Given the description of an element on the screen output the (x, y) to click on. 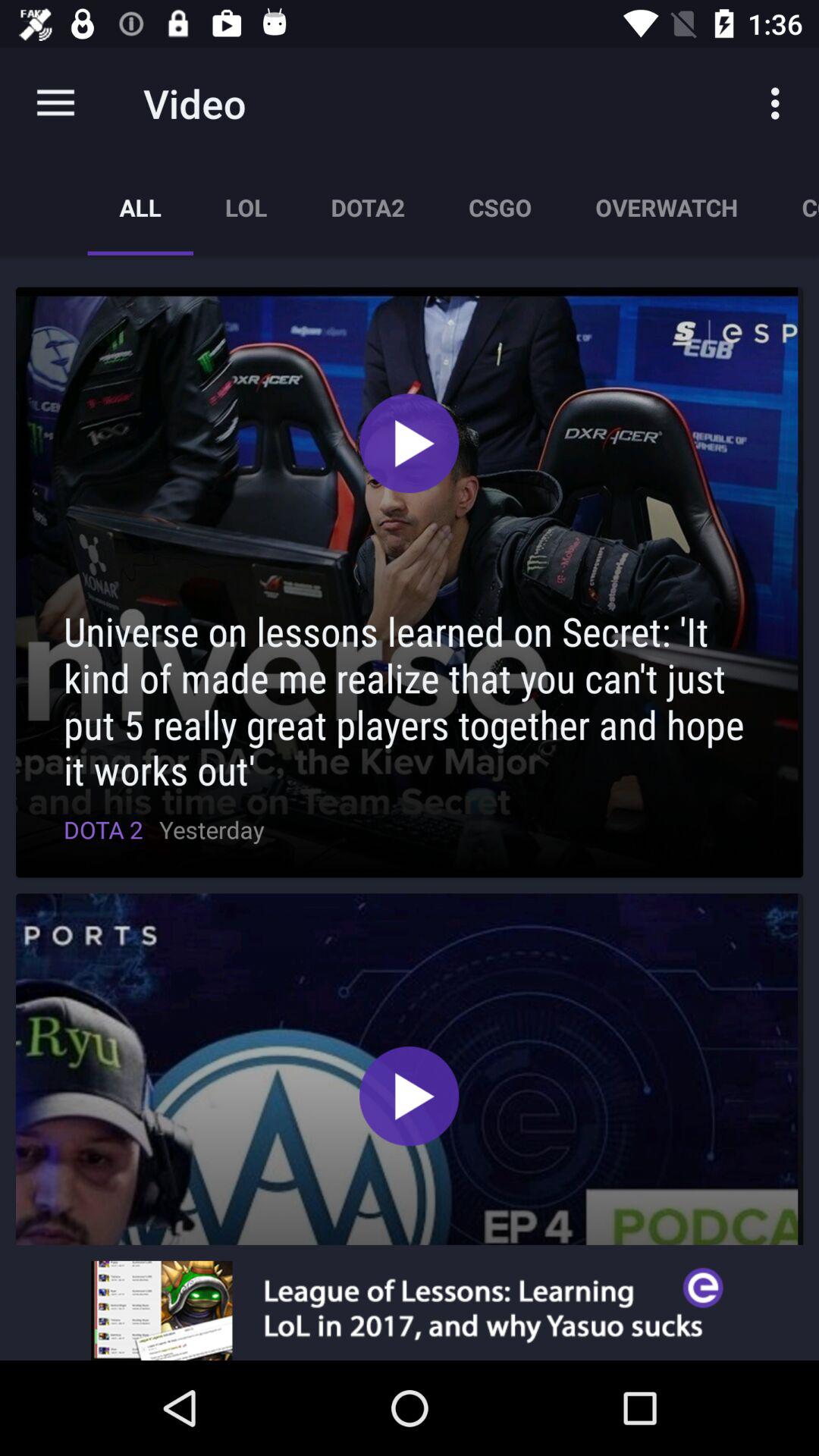
view advertisement (409, 1310)
